Given the description of an element on the screen output the (x, y) to click on. 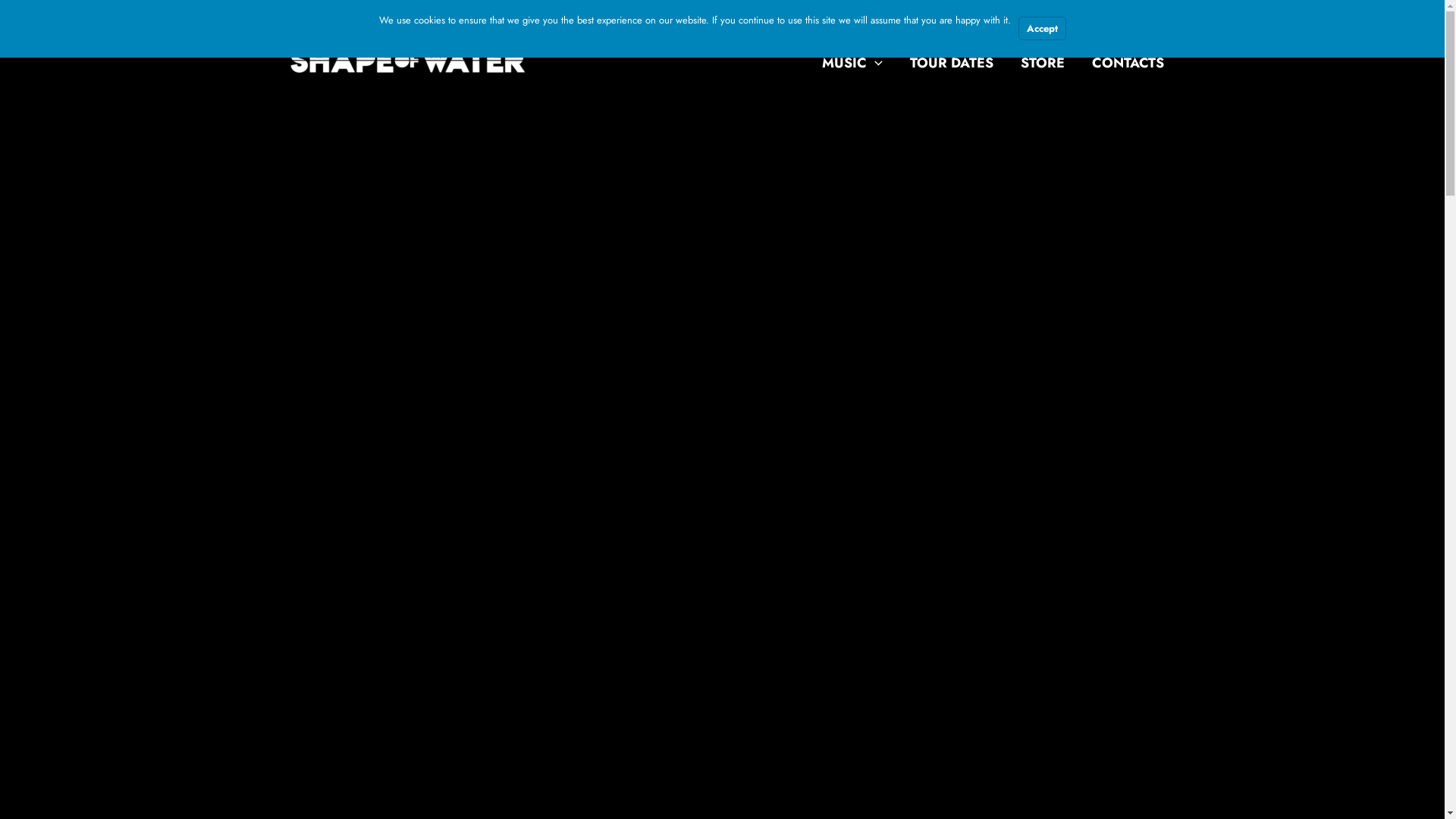
STORE Element type: text (1042, 62)
MUSIC Element type: text (852, 62)
Accept Element type: text (1041, 28)
CONTACTS Element type: text (1127, 62)
TOUR DATES Element type: text (951, 62)
